Given the description of an element on the screen output the (x, y) to click on. 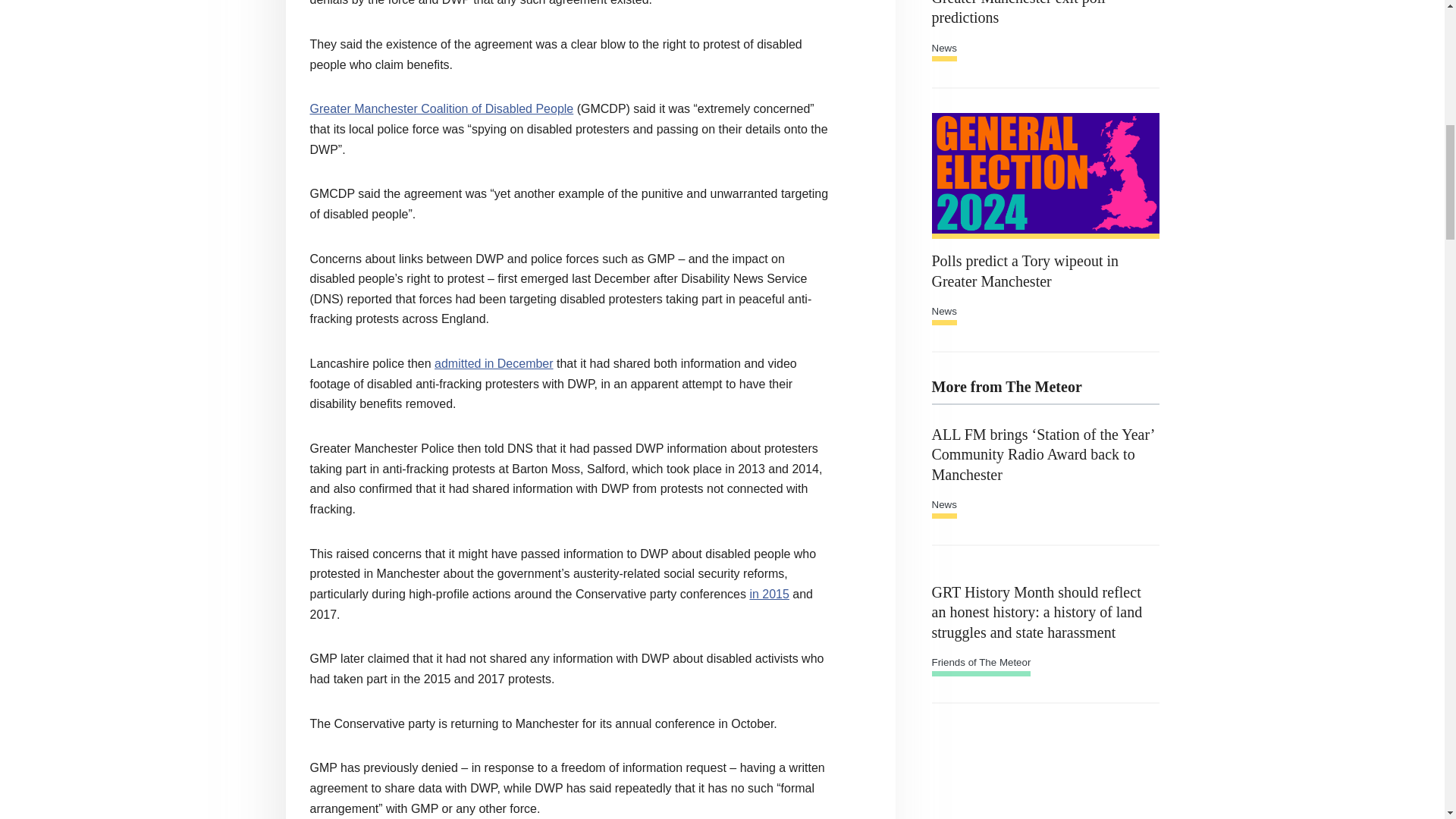
Greater Manchester Coalition of Disabled People (440, 108)
in 2015 (769, 594)
admitted in December (493, 363)
